Given the description of an element on the screen output the (x, y) to click on. 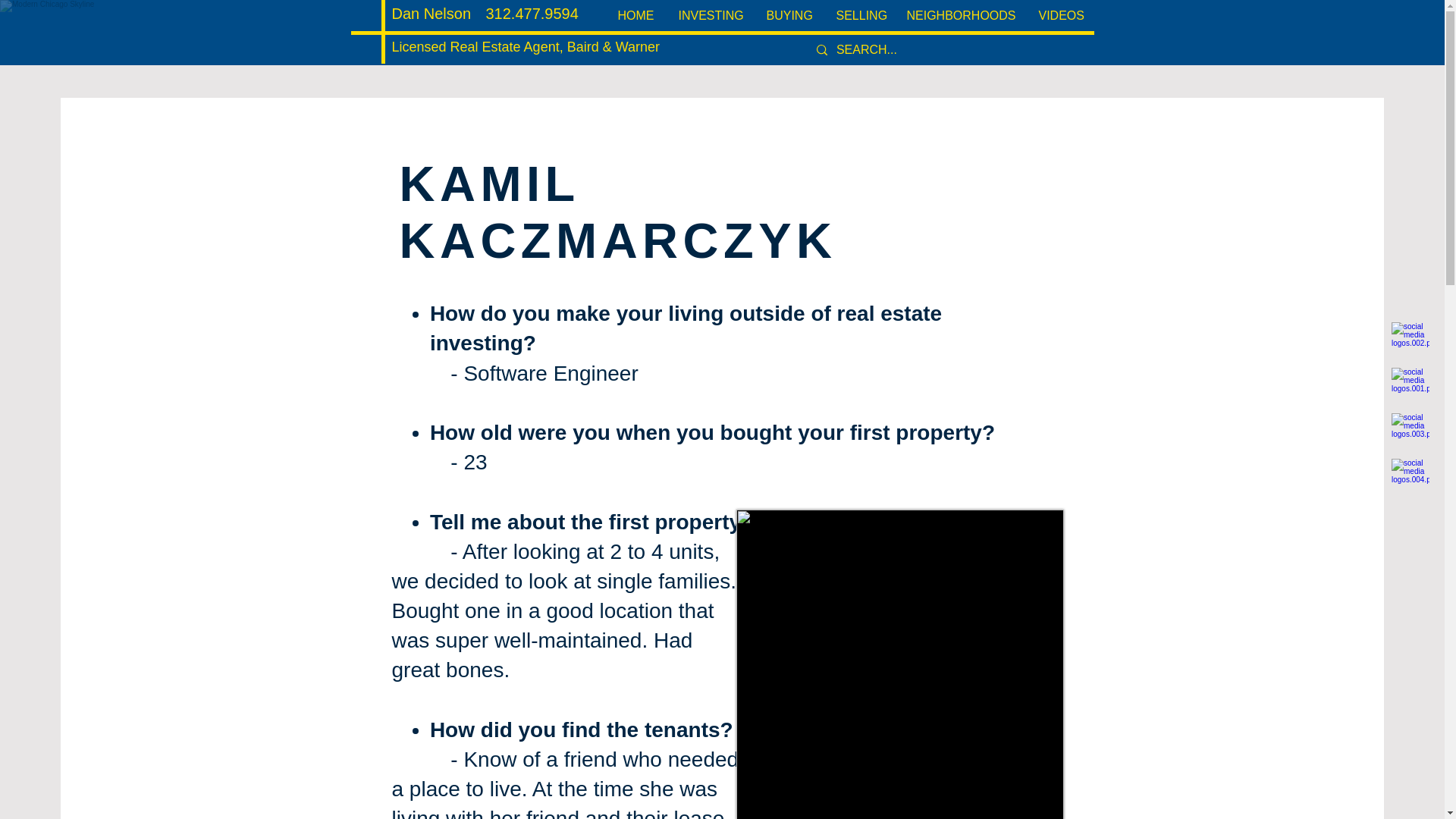
HOME (635, 15)
SELLING (858, 15)
Dan Nelson (430, 13)
Kamil.jpg (898, 664)
BUYING (789, 15)
NEIGHBORHOODS (960, 15)
312.477.9594 (531, 13)
INVESTING (709, 15)
VIDEOS (1060, 15)
